Given the description of an element on the screen output the (x, y) to click on. 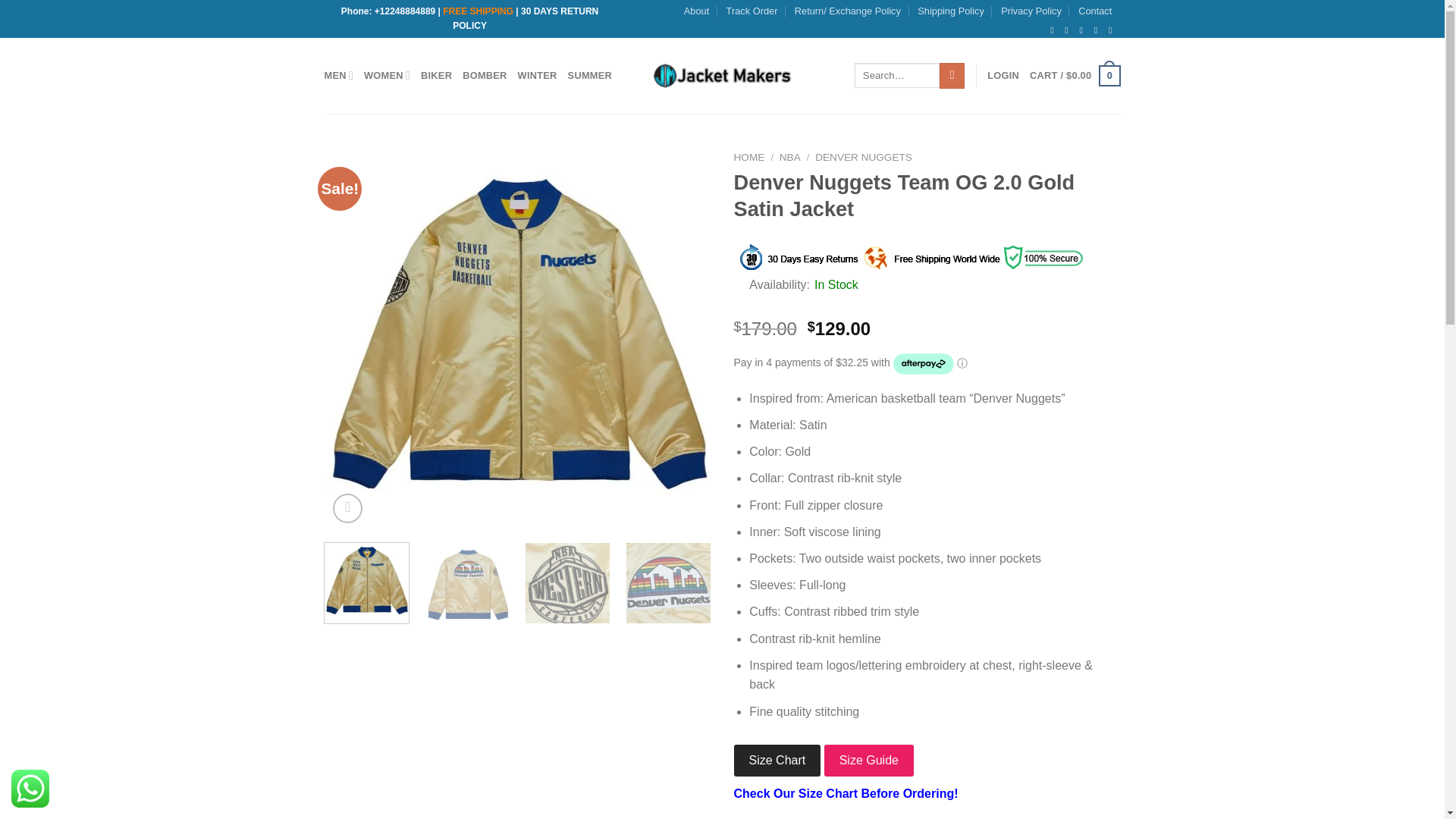
Privacy Policy (1031, 11)
Track Order (751, 11)
Contact (1095, 11)
Shipping Policy (950, 11)
About (696, 11)
MEN (338, 75)
Afterpay (923, 363)
Cart (1074, 75)
